Given the description of an element on the screen output the (x, y) to click on. 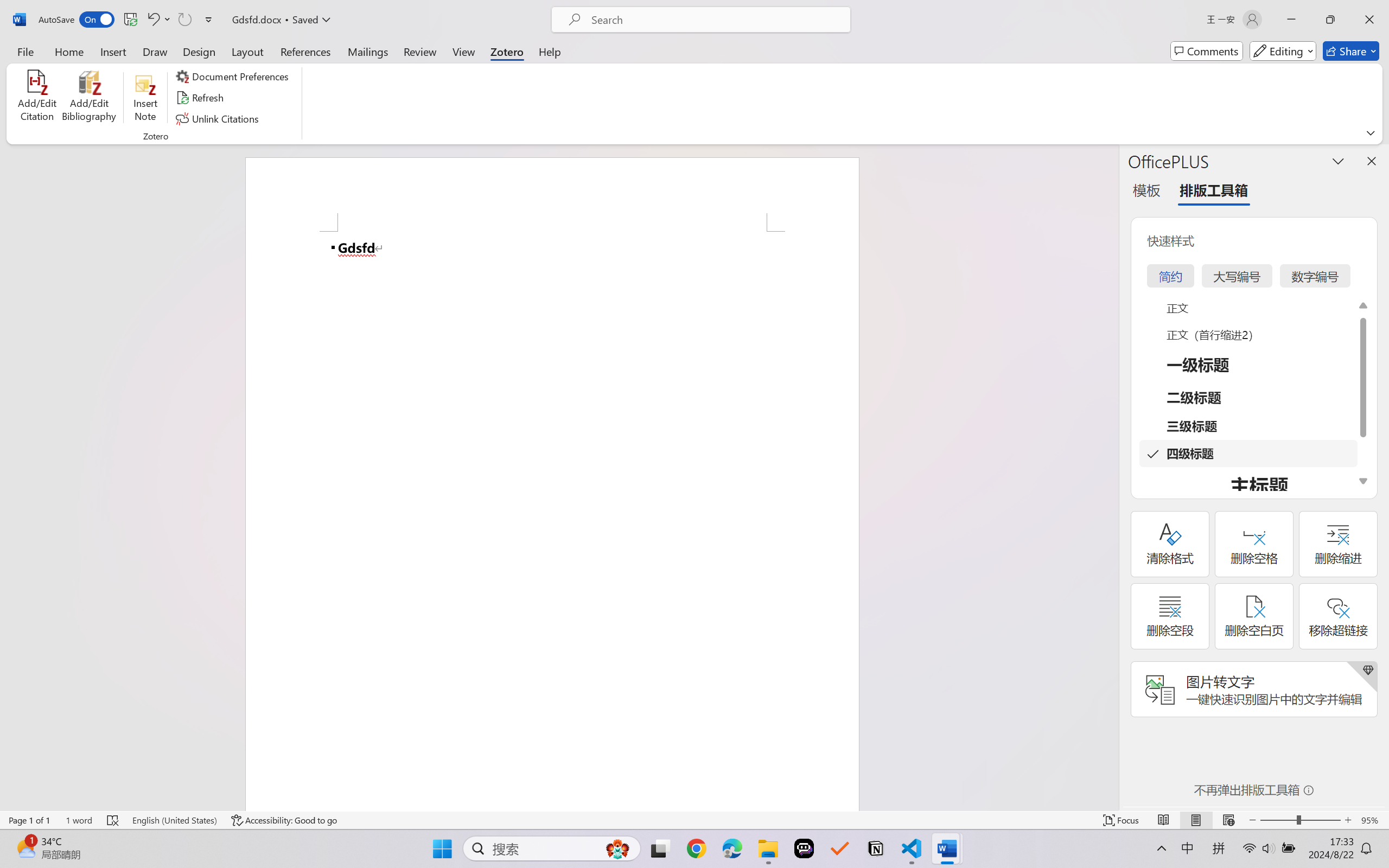
Microsoft search (715, 19)
Refresh (201, 97)
